Given the description of an element on the screen output the (x, y) to click on. 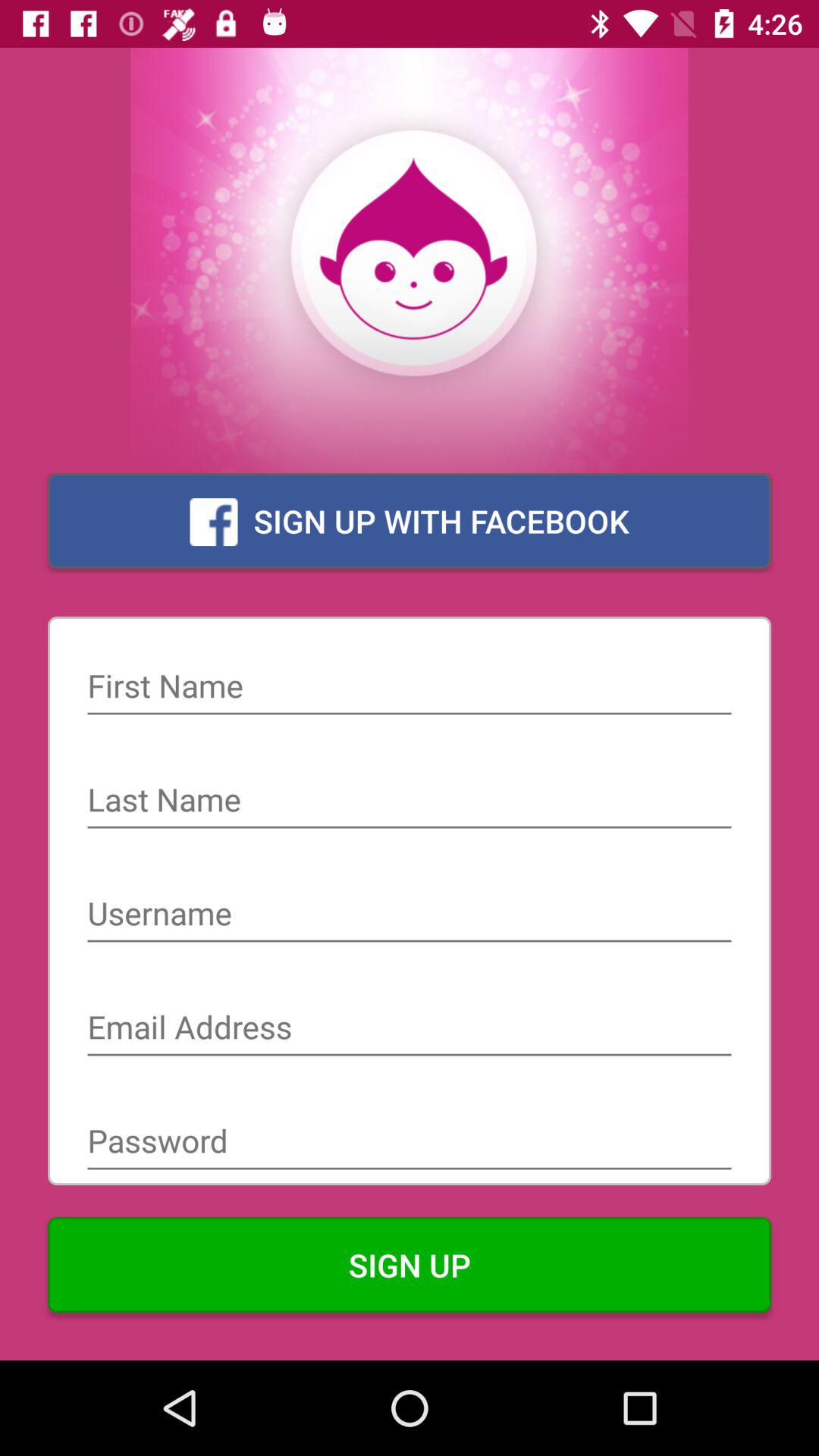
enter password into field (409, 1142)
